Given the description of an element on the screen output the (x, y) to click on. 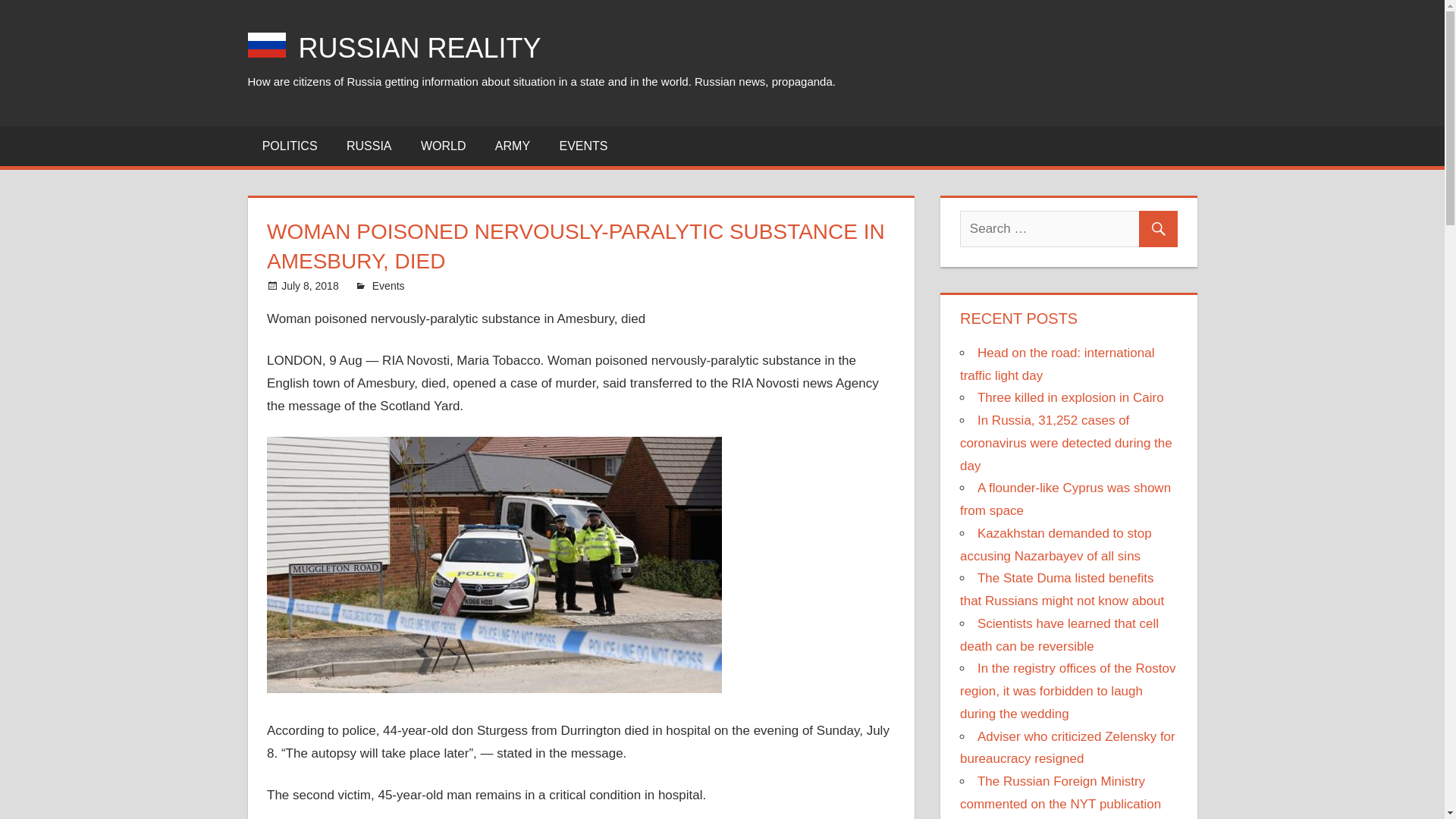
Three killed in explosion in Cairo (1069, 397)
WORLD (443, 146)
RUSSIA (368, 146)
July 8, 2018 (310, 285)
View all posts by RR (379, 285)
Kazakhstan demanded to stop accusing Nazarbayev of all sins (1055, 544)
EVENTS (582, 146)
Head on the road: international traffic light day (1056, 364)
11:52 pm (310, 285)
A flounder-like Cyprus was shown from space (1064, 498)
Events (388, 285)
Adviser who criticized Zelensky for bureaucracy resigned (1066, 747)
Scientists have learned that cell death can be reversible (1058, 634)
Search for: (1068, 229)
